Given the description of an element on the screen output the (x, y) to click on. 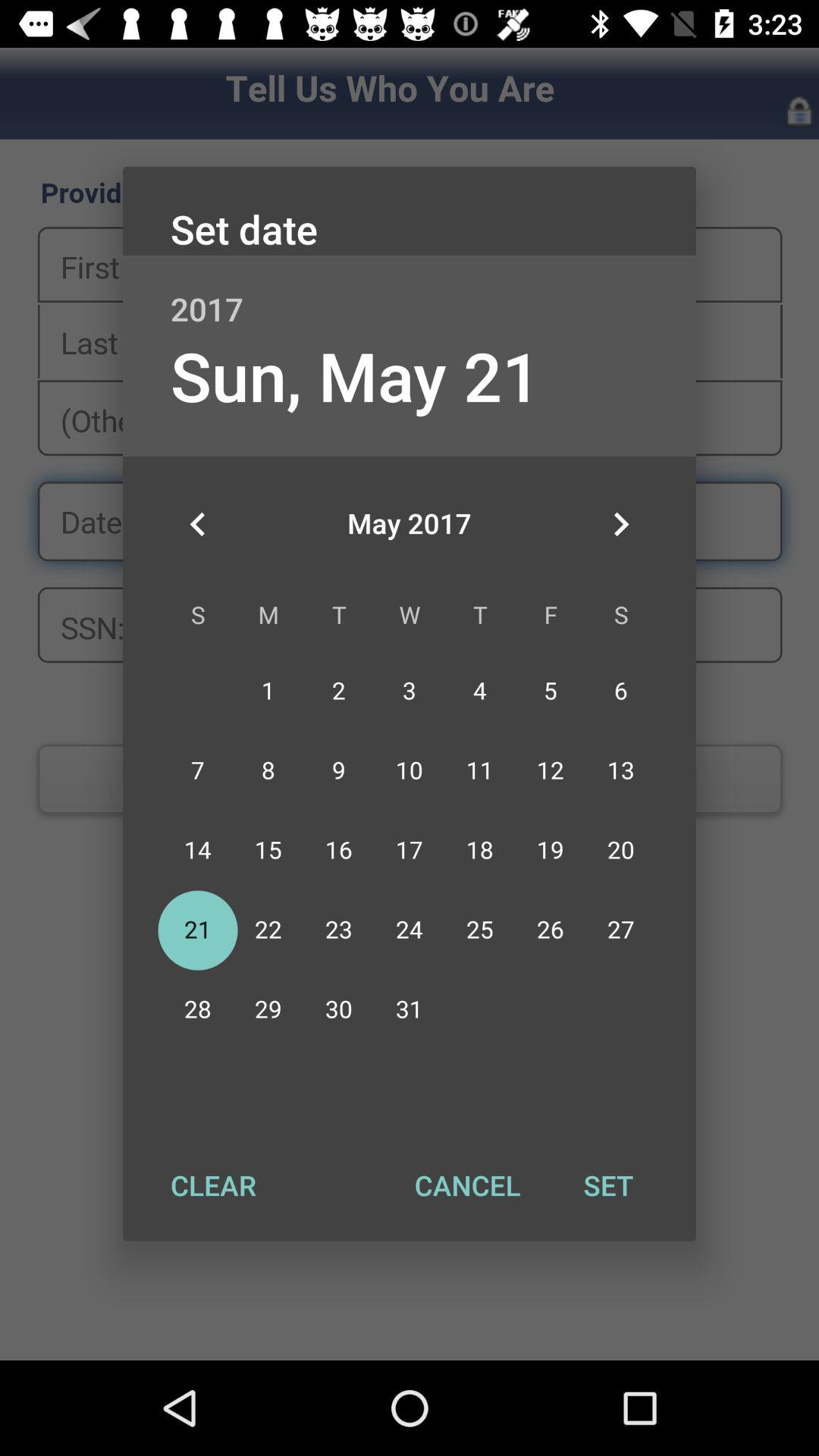
click the icon at the bottom left corner (213, 1185)
